Given the description of an element on the screen output the (x, y) to click on. 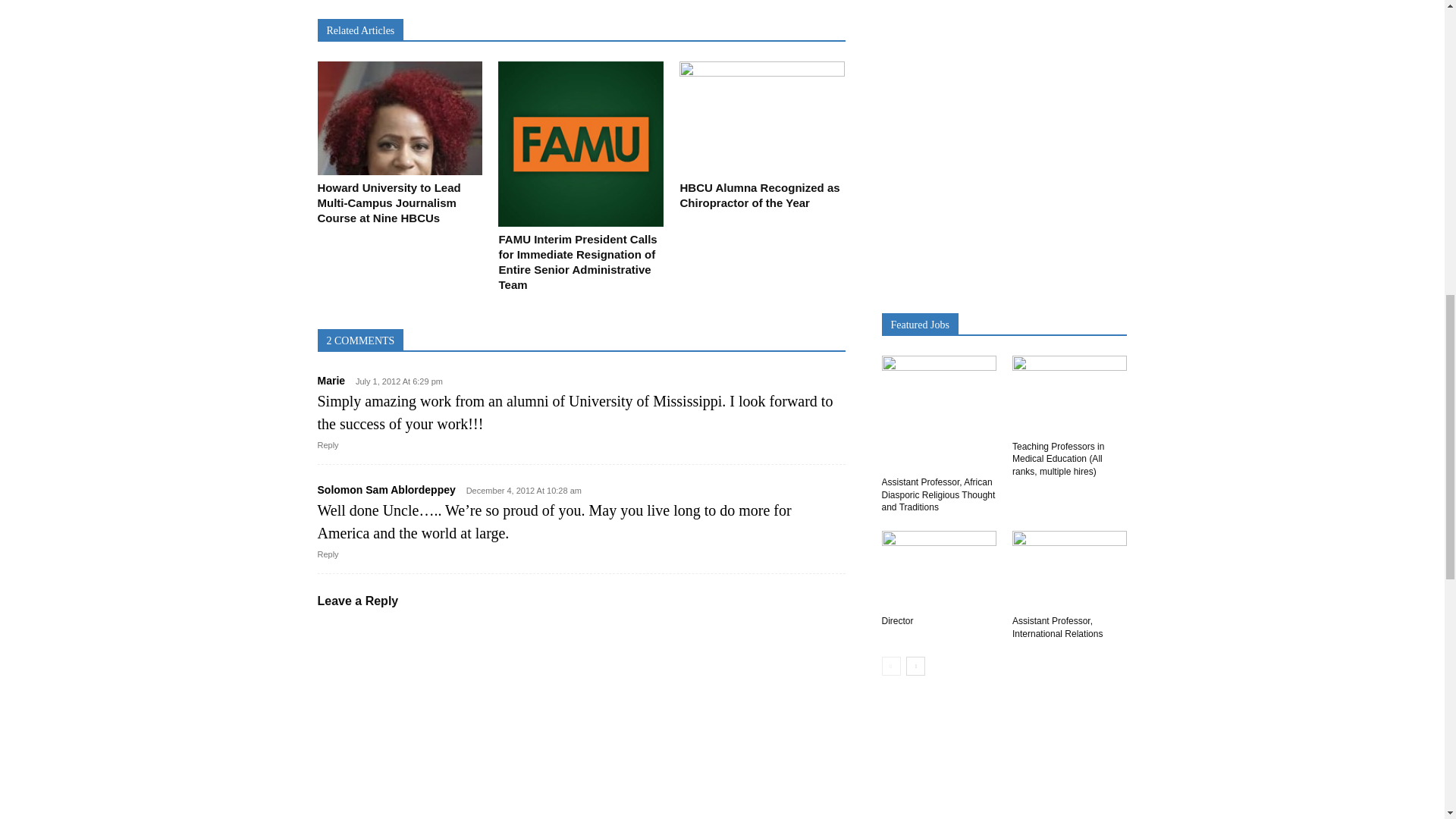
HBCU Alumna Recognized as Chiropractor of the Year (759, 194)
